Given the description of an element on the screen output the (x, y) to click on. 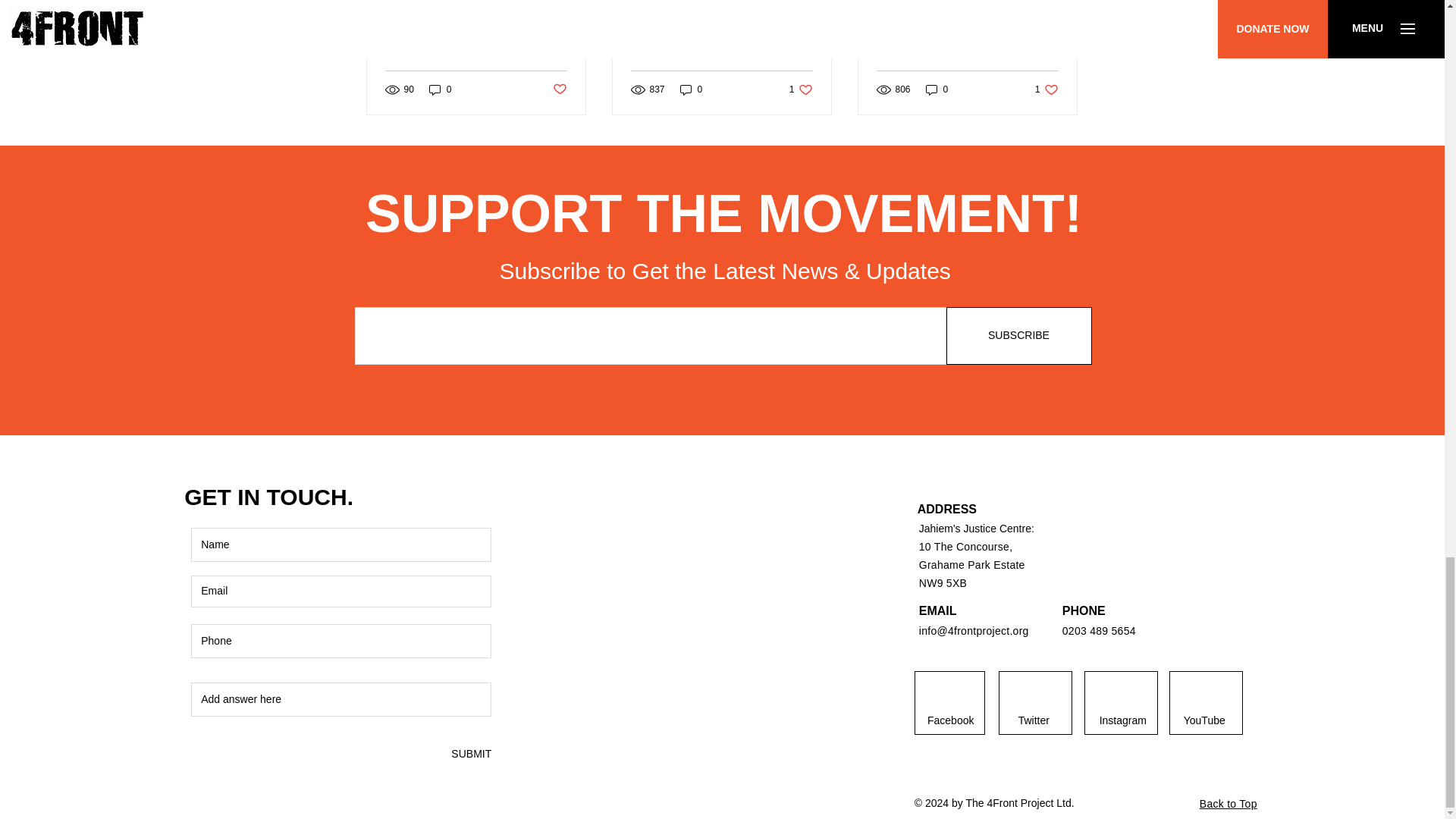
Back to Top (1228, 803)
0 (937, 89)
Post not marked as liked (558, 89)
0 (691, 89)
SUBMIT (470, 754)
Twitter (1033, 720)
Facebook (950, 720)
Instagram (1123, 720)
We're Hiring! Community Educator (721, 36)
SUBSCRIBE (1019, 335)
We're Hiring! Community Organiser (1046, 89)
Erase The Database! (800, 89)
0 (967, 36)
